Given the description of an element on the screen output the (x, y) to click on. 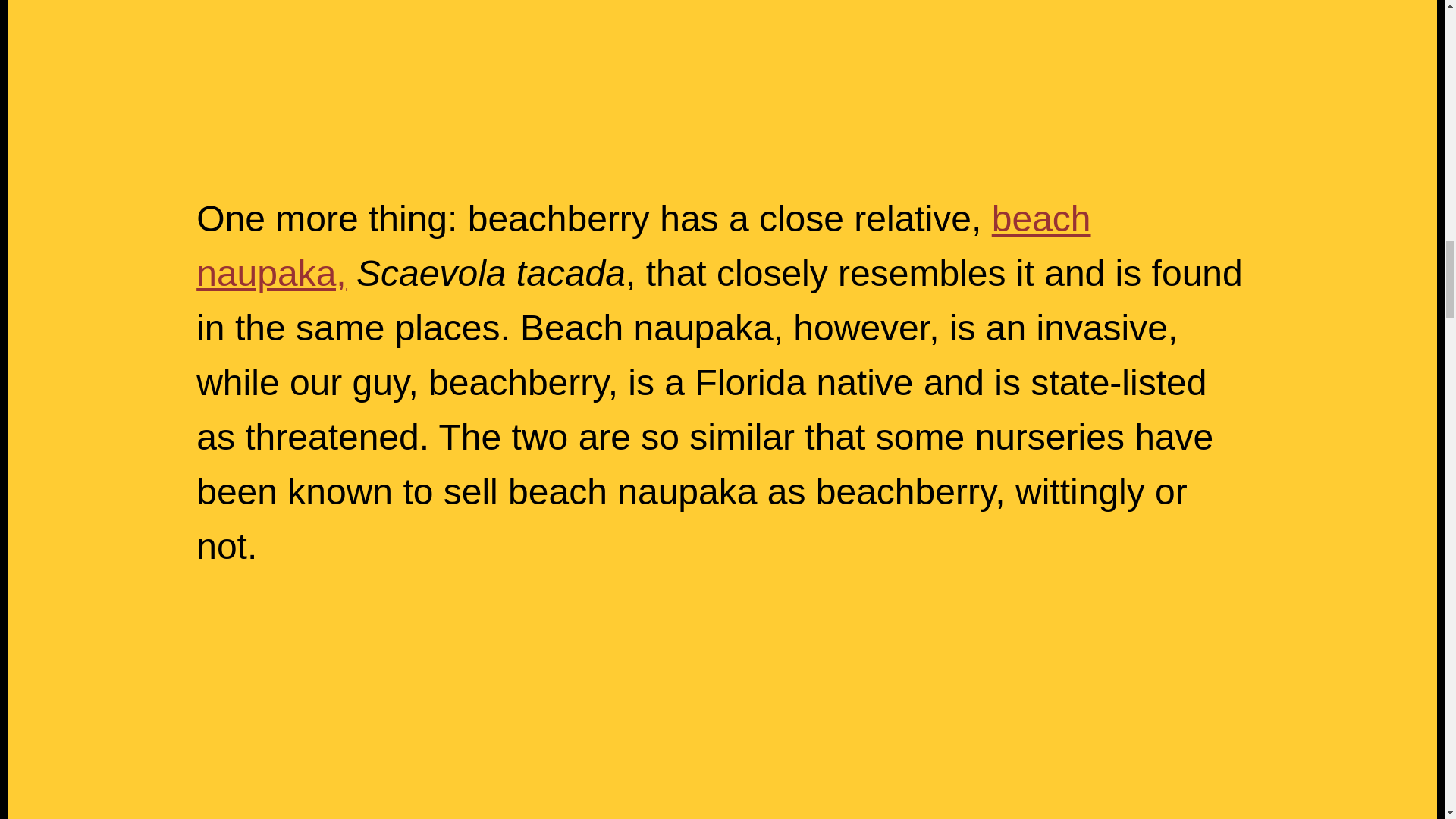
beach naupaka, (643, 246)
Advertisement (721, 68)
